Given the description of an element on the screen output the (x, y) to click on. 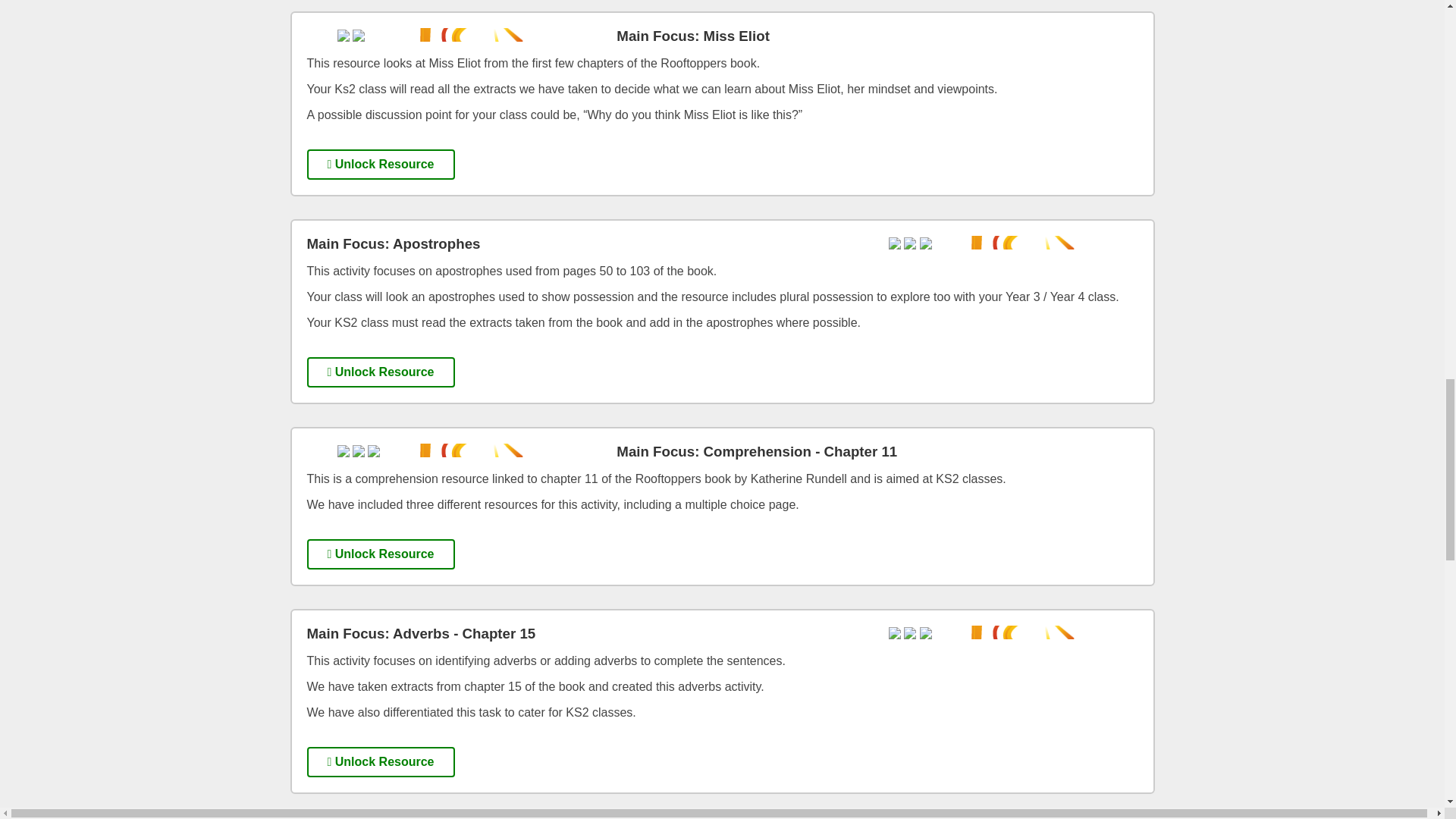
Unlock Resource (379, 761)
Unlock Resource (379, 553)
Unlock Resource (379, 164)
Unlock Resource (379, 372)
